Given the description of an element on the screen output the (x, y) to click on. 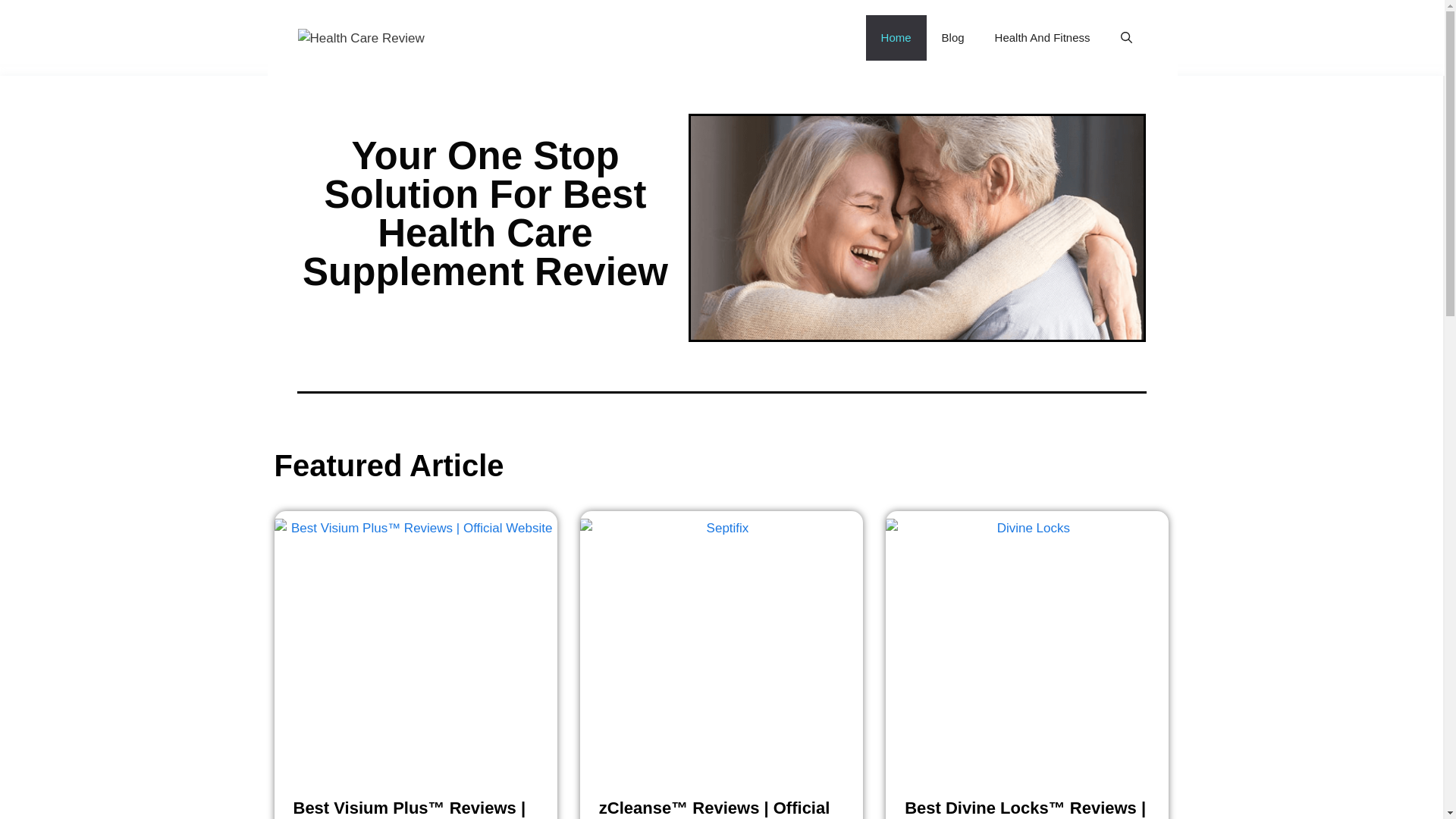
Health And Fitness (1042, 37)
Home (896, 37)
Blog (952, 37)
